Given the description of an element on the screen output the (x, y) to click on. 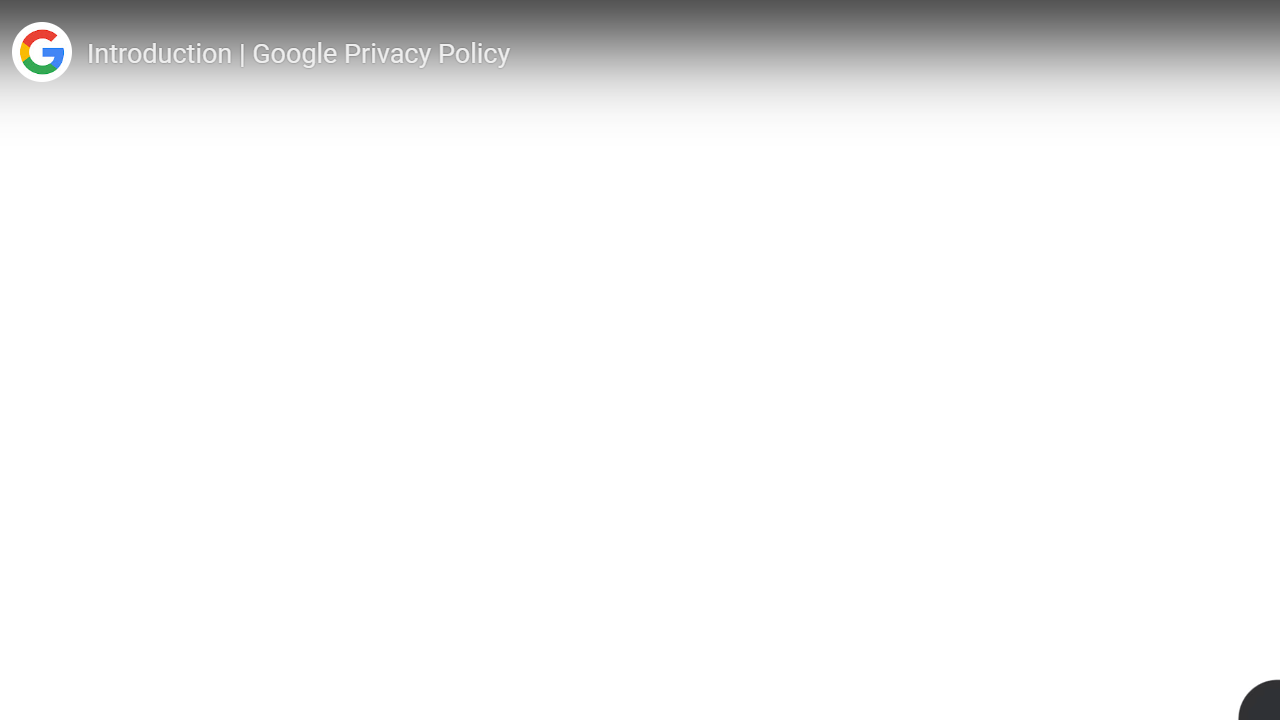
Photo image of Google (41, 52)
